Given the description of an element on the screen output the (x, y) to click on. 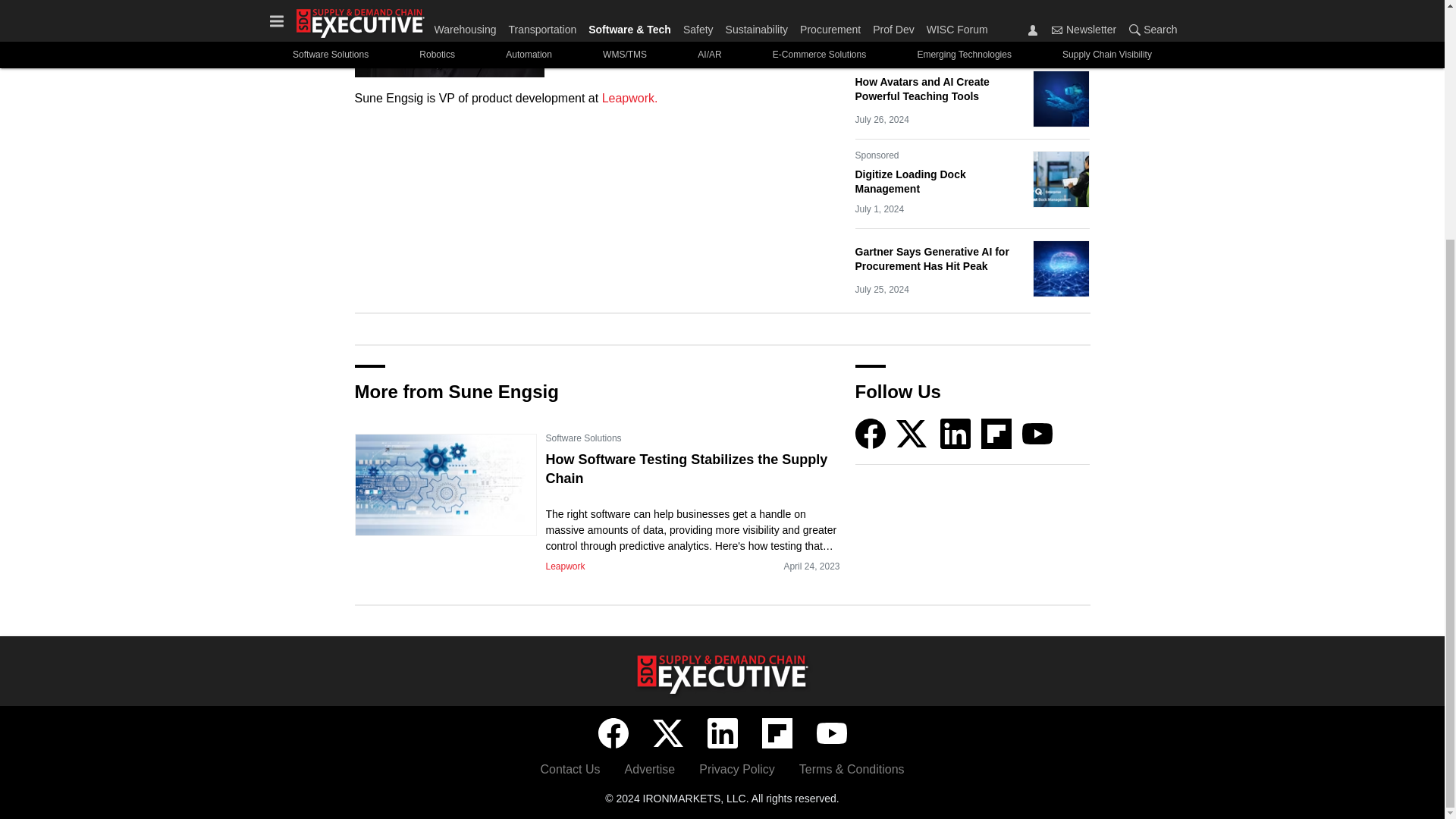
Visit us on Twitter (913, 431)
YouTube icon (830, 733)
Visit us on Facebook (611, 733)
Visit us on Facebook (870, 431)
Facebook icon (870, 433)
Twitter X icon (911, 433)
Twitter X icon (667, 733)
Visit us on Youtube (1037, 431)
LinkedIn icon (955, 433)
Flipboard icon (776, 733)
Visit us on Flipboard (996, 431)
Facebook icon (611, 733)
Flipboard icon (996, 433)
YouTube icon (1037, 433)
